Given the description of an element on the screen output the (x, y) to click on. 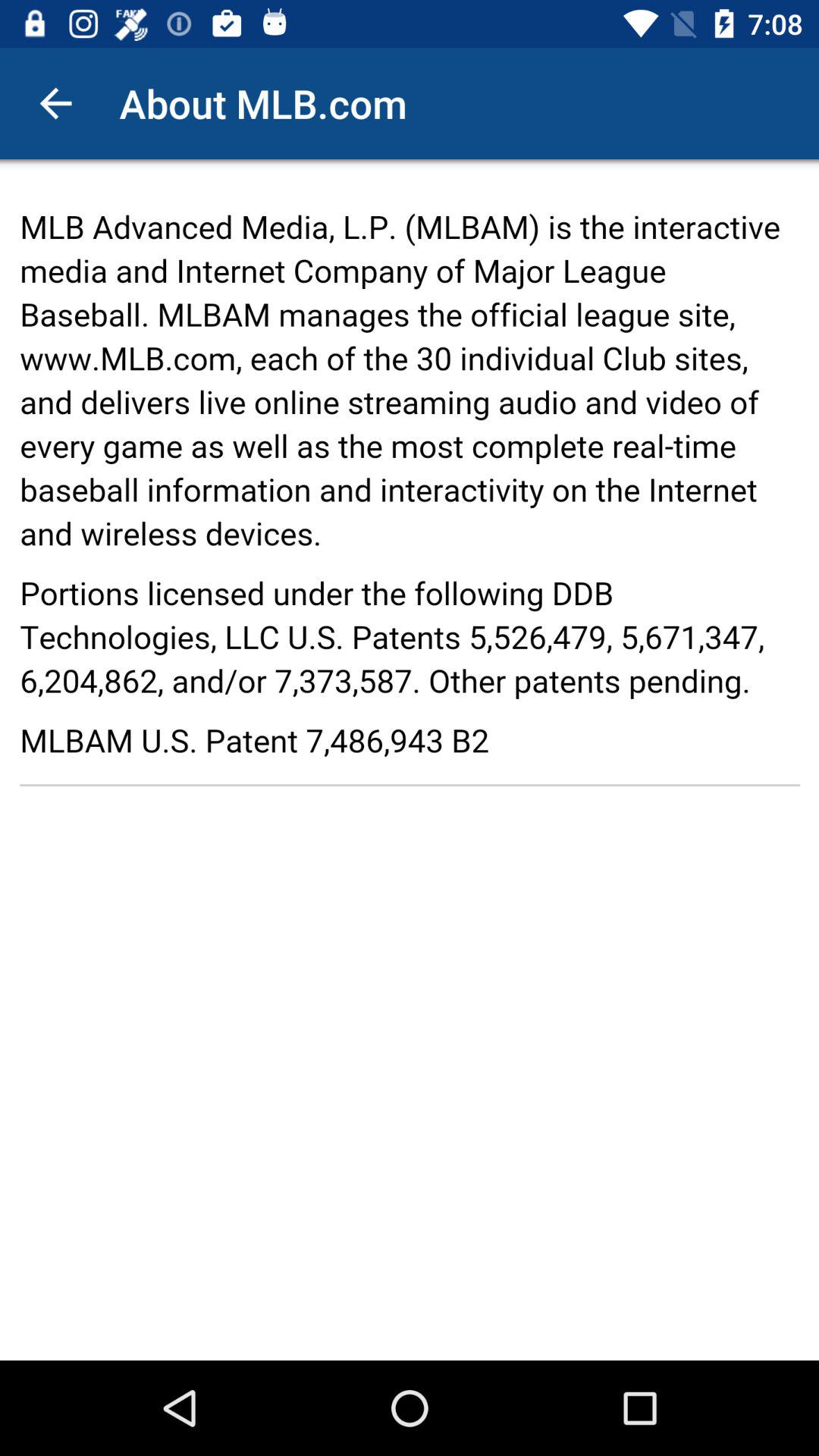
opens up app (409, 759)
